Given the description of an element on the screen output the (x, y) to click on. 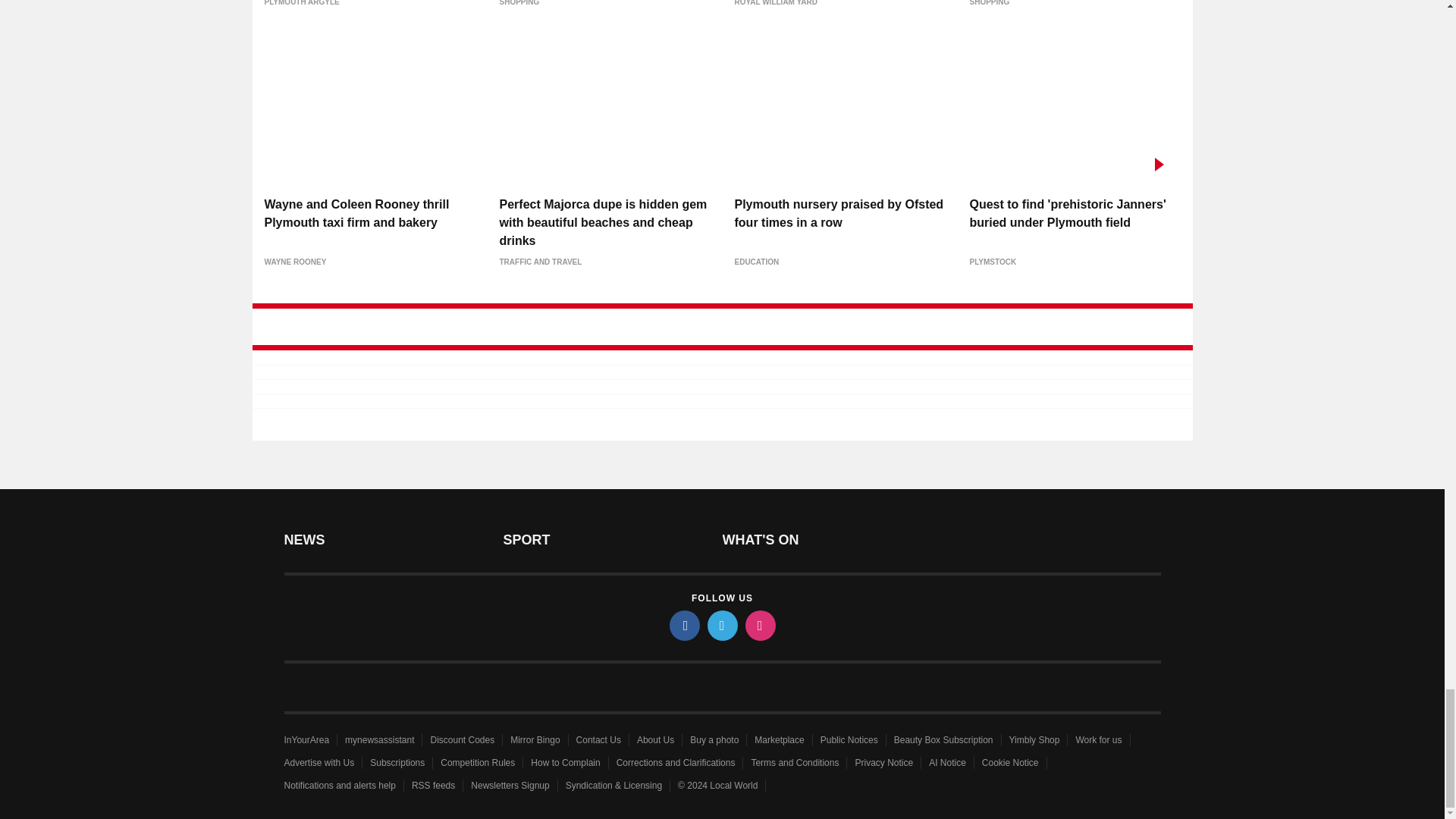
twitter (721, 625)
instagram (759, 625)
facebook (683, 625)
